Given the description of an element on the screen output the (x, y) to click on. 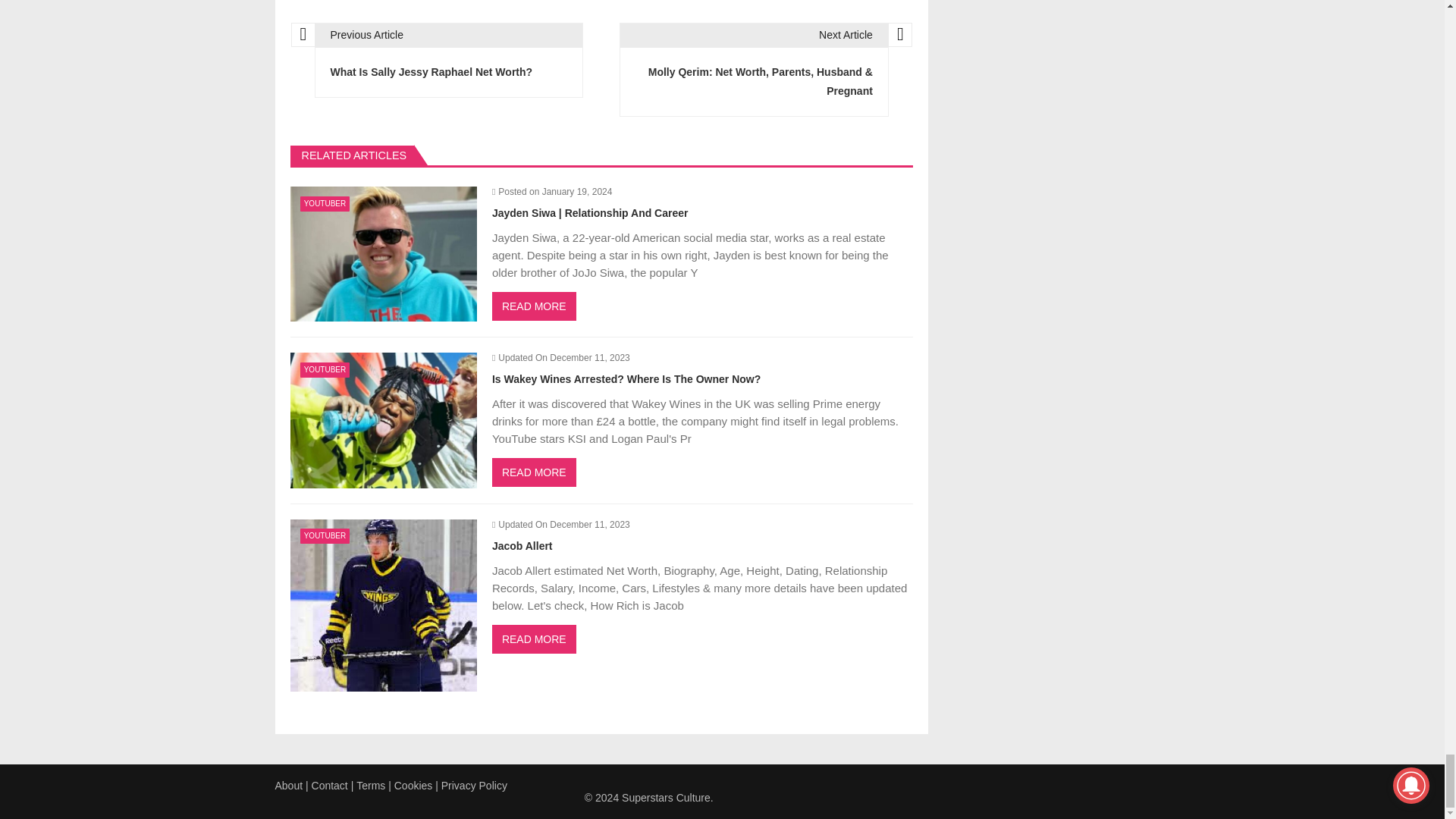
Jacob Allert (382, 605)
Is Wakey Wines Arrested? Where Is The Owner Now? (382, 419)
